Given the description of an element on the screen output the (x, y) to click on. 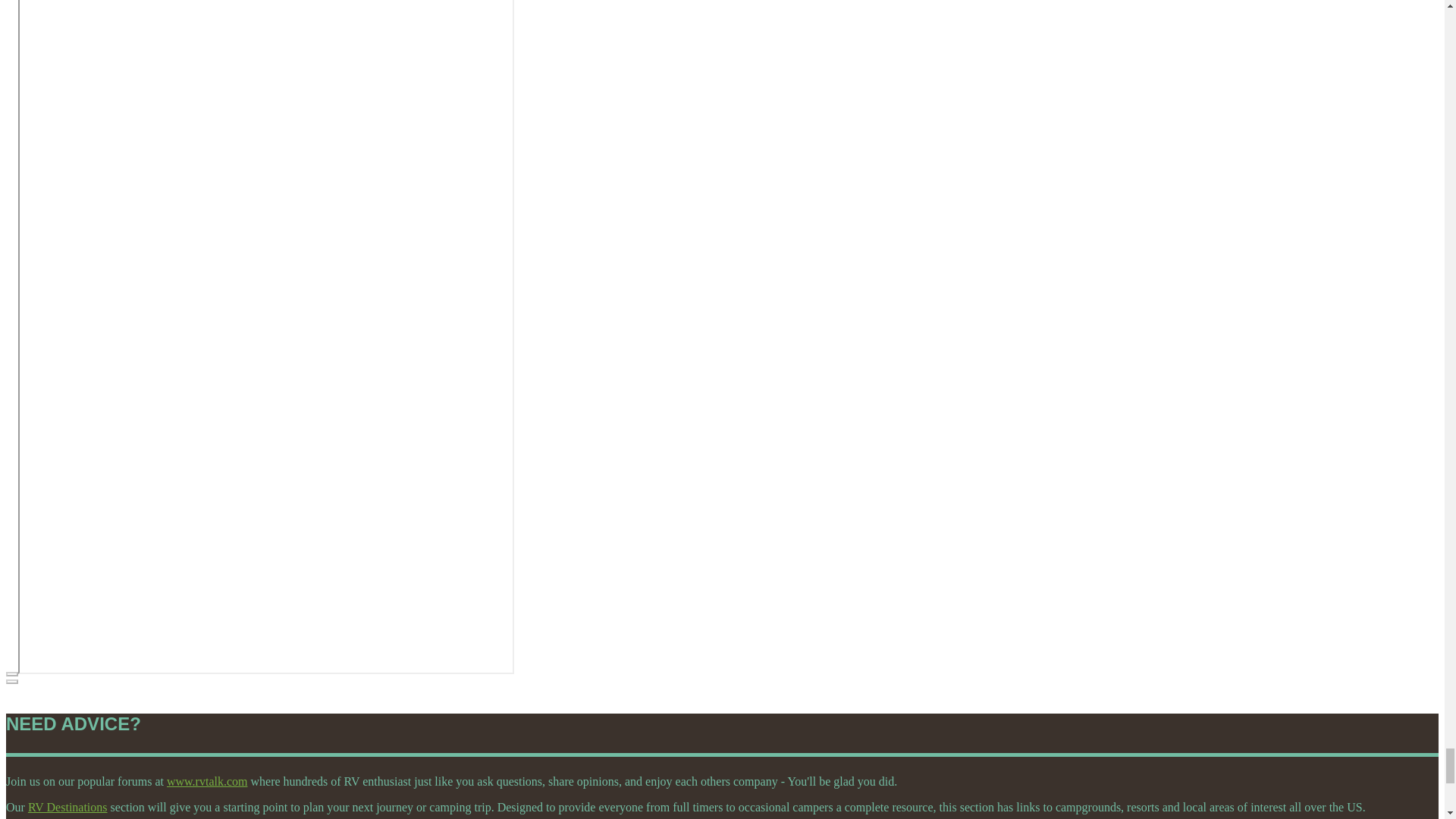
RV Destinations (67, 807)
www.rvtalk.com (207, 780)
